Given the description of an element on the screen output the (x, y) to click on. 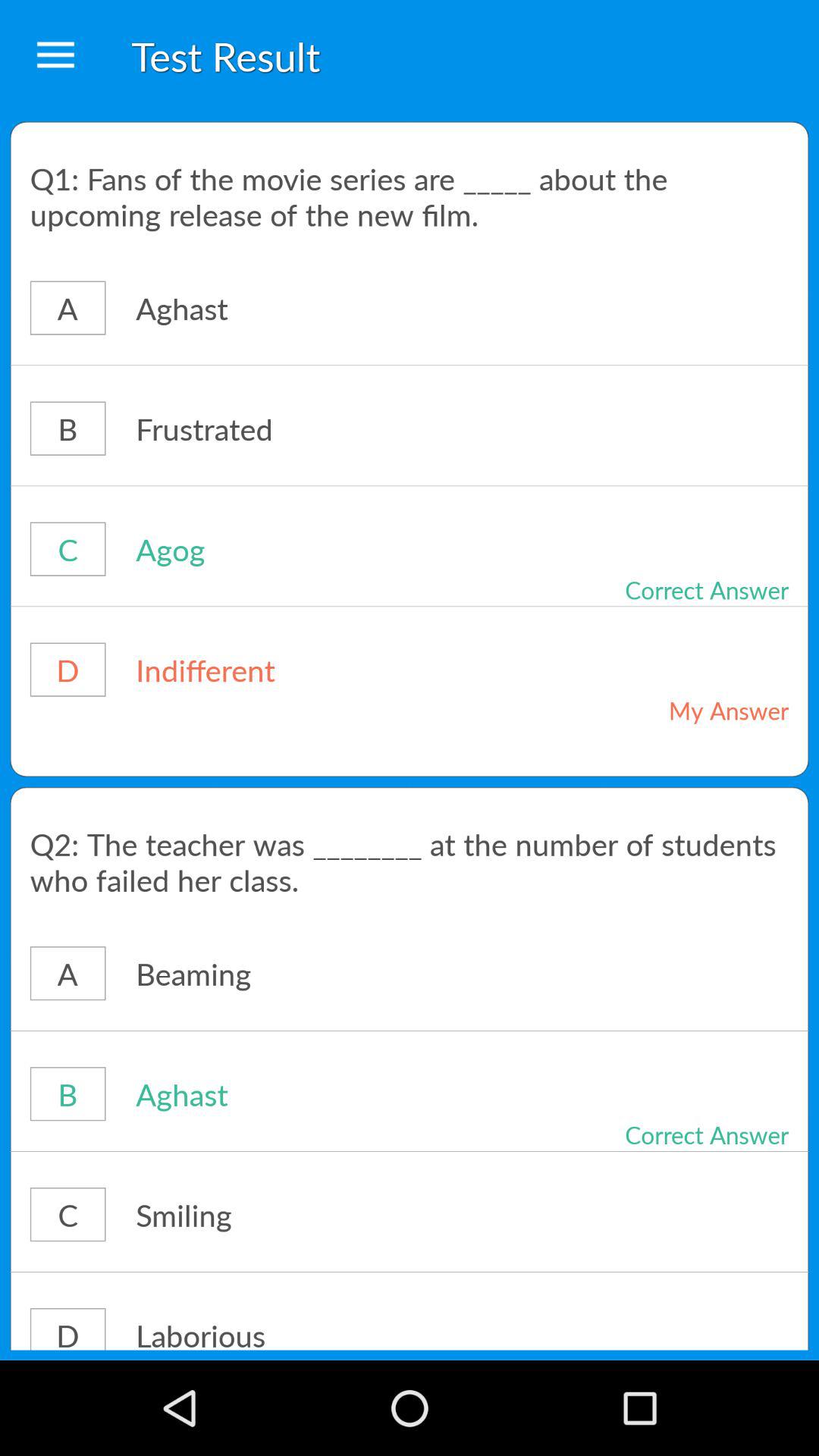
turn off icon above the c icon (409, 1151)
